Given the description of an element on the screen output the (x, y) to click on. 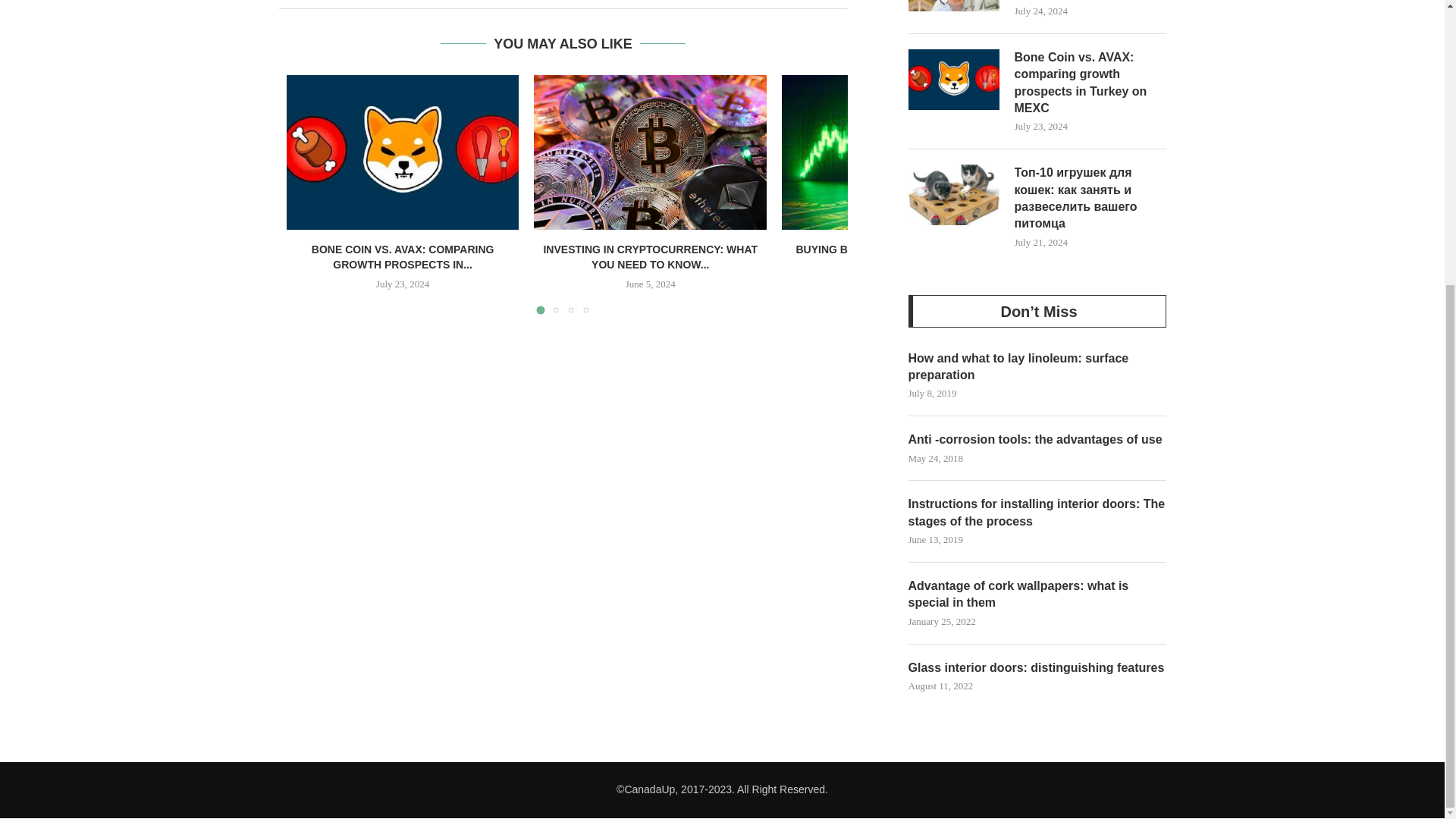
Investing in cryptocurrency: what you need to know and tips (650, 152)
Buying bitcoin on MEXC in Vietnam (897, 152)
